Given the description of an element on the screen output the (x, y) to click on. 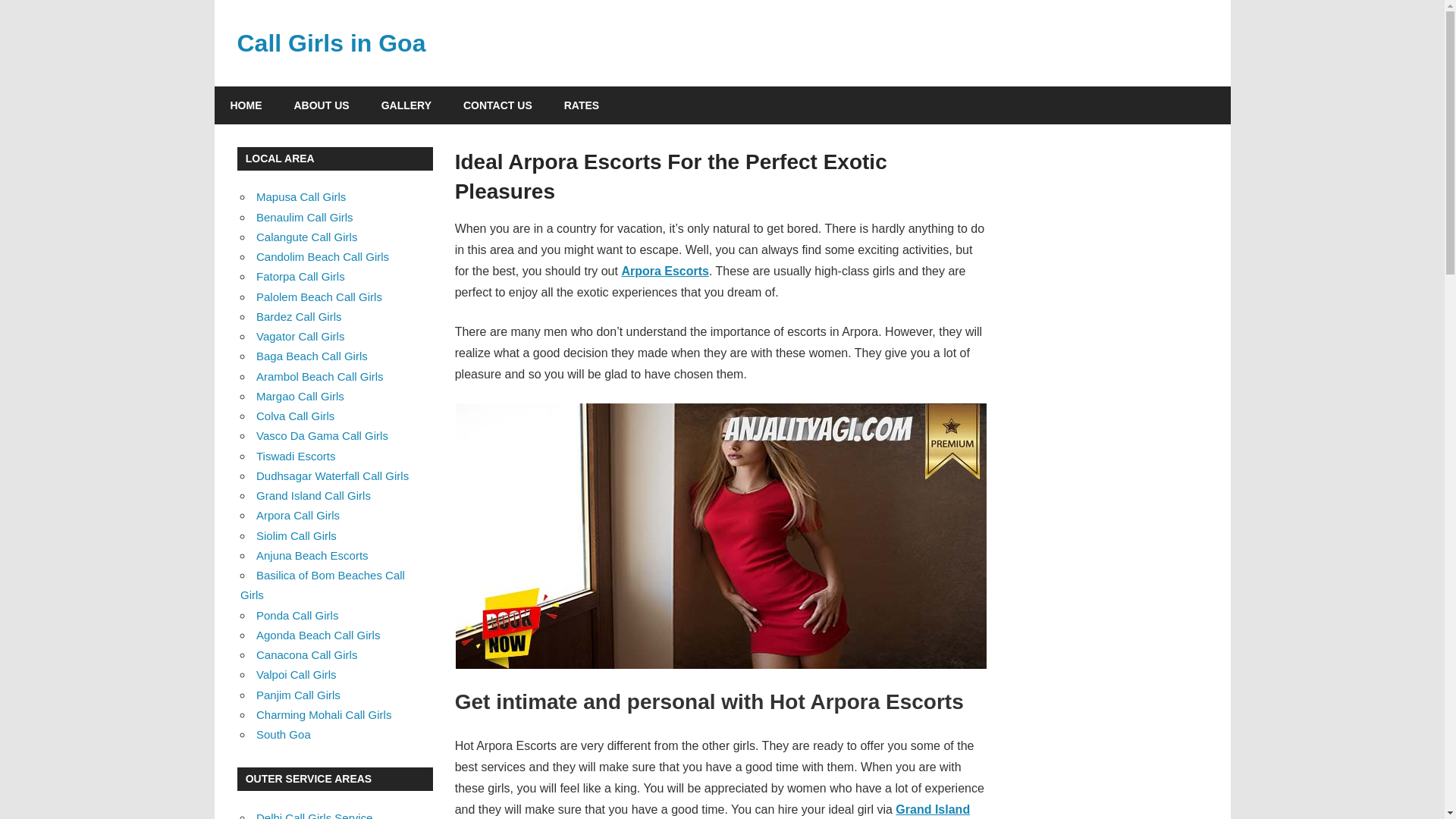
Ponda Call Girls (296, 615)
Call Girls in Goa (330, 42)
Calangute Call Girls (306, 236)
Colva Call Girls (295, 415)
GALLERY (405, 105)
Candolim Beach Call Girls (322, 256)
Arambol Beach Call Girls (320, 376)
Palolem Beach Call Girls (318, 296)
HOME (246, 105)
Vasco Da Gama Call Girls (322, 435)
Grand Island Escorts (711, 811)
RATES (581, 105)
Fatorpa Call Girls (300, 276)
Arpora Escorts (665, 270)
Margao Call Girls (299, 395)
